Given the description of an element on the screen output the (x, y) to click on. 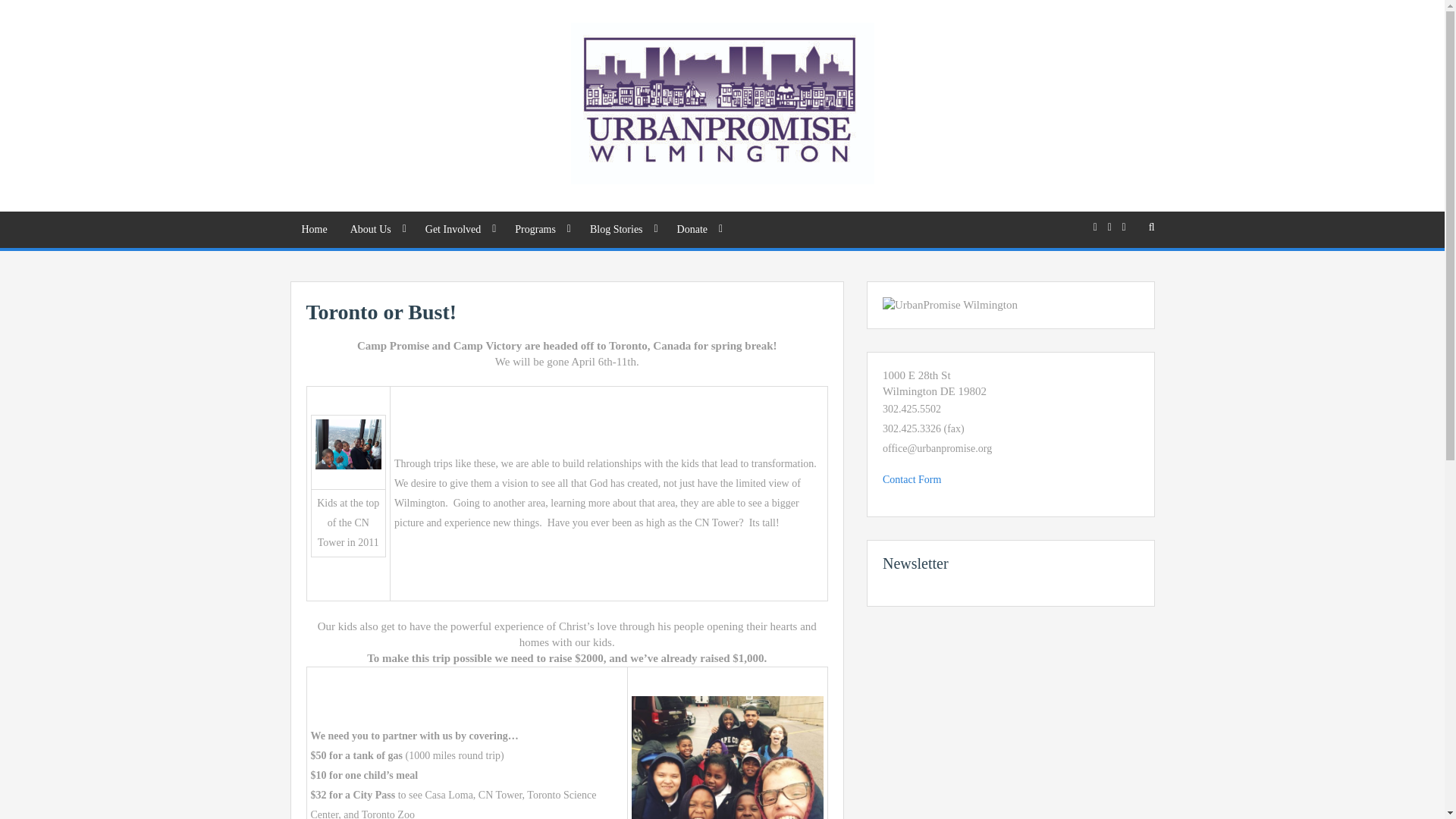
About Us (376, 229)
About (376, 229)
Click for online form (911, 479)
Get Involved (458, 229)
Programs (540, 229)
Blog Stories (621, 229)
Home (313, 229)
Donate (697, 229)
